Given the description of an element on the screen output the (x, y) to click on. 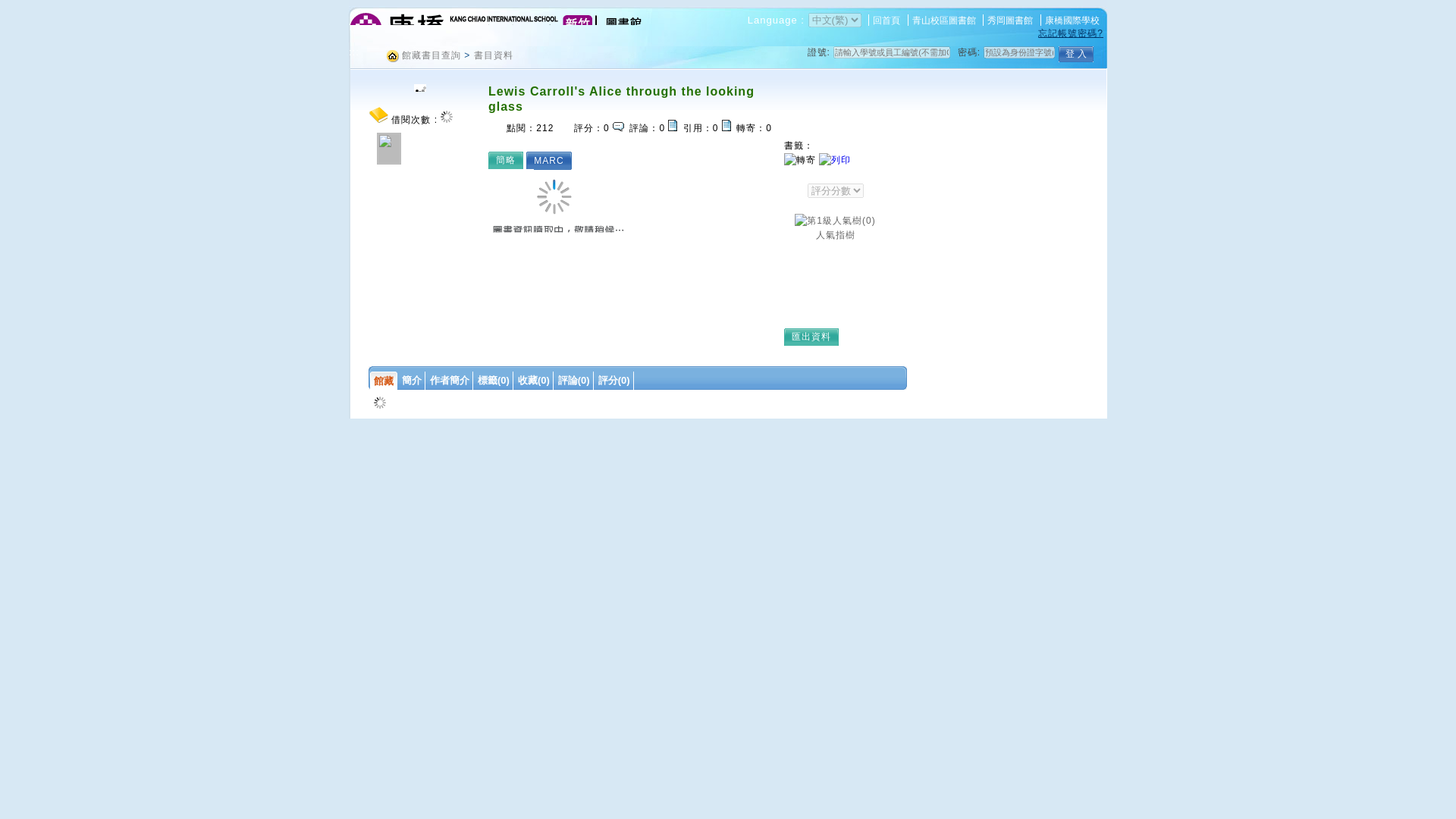
MARC (552, 159)
MARC (552, 159)
::: (354, 51)
